Given the description of an element on the screen output the (x, y) to click on. 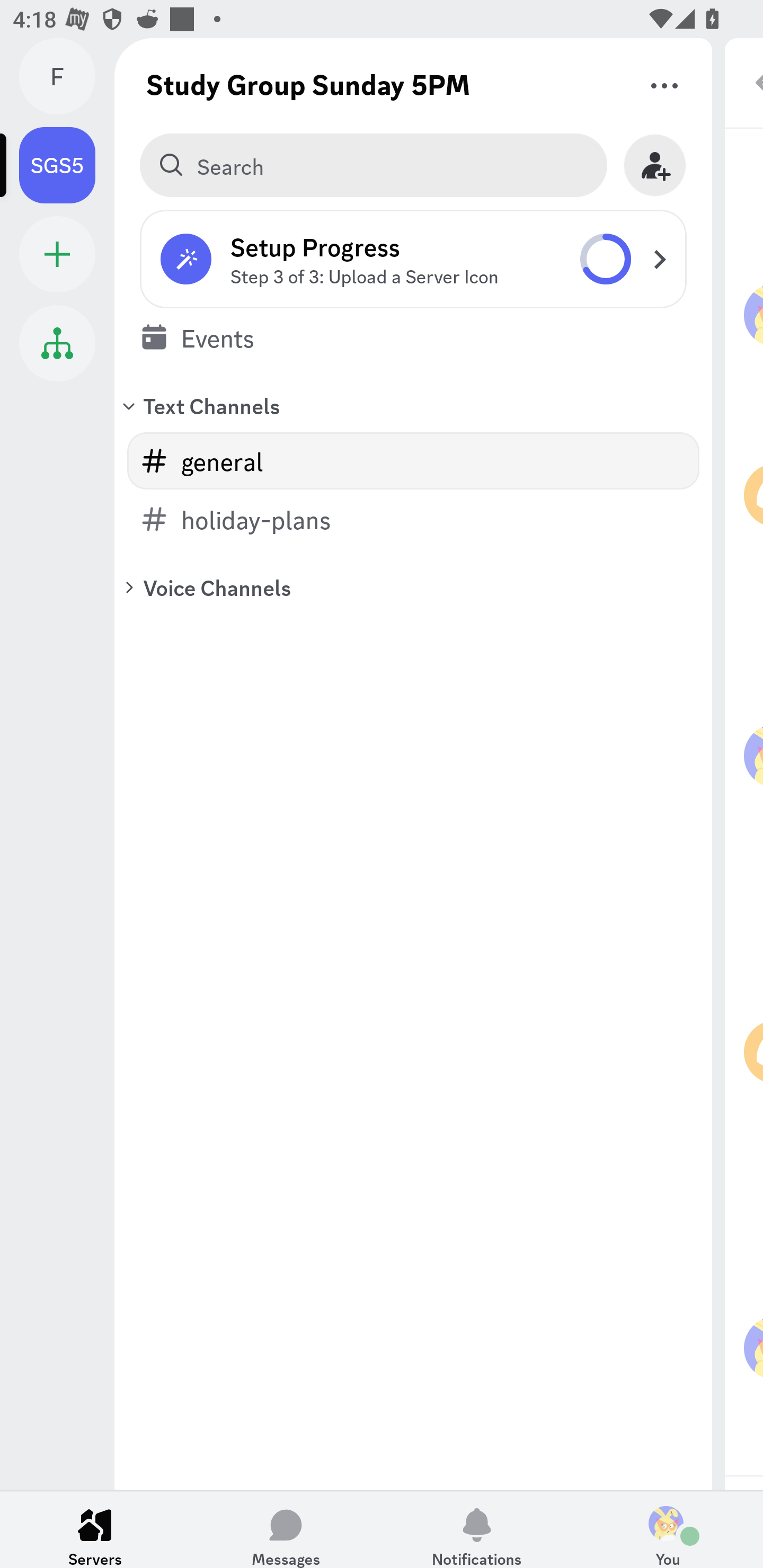
  Friends F (66, 75)
Study Group Sunday 5PM (308, 83)
  Study Group Sunday 5PM SGS5 (66, 165)
Search (373, 165)
Invite (654, 165)
Add a Server (57, 253)
Student Hub (57, 343)
Events (413, 336)
Text Channels (412, 404)
general (text channel) general (413, 460)
holiday-plans (text channel) holiday-plans (413, 518)
Voice Channels (412, 586)
Servers (95, 1529)
Messages (285, 1529)
Notifications (476, 1529)
You (667, 1529)
